Given the description of an element on the screen output the (x, y) to click on. 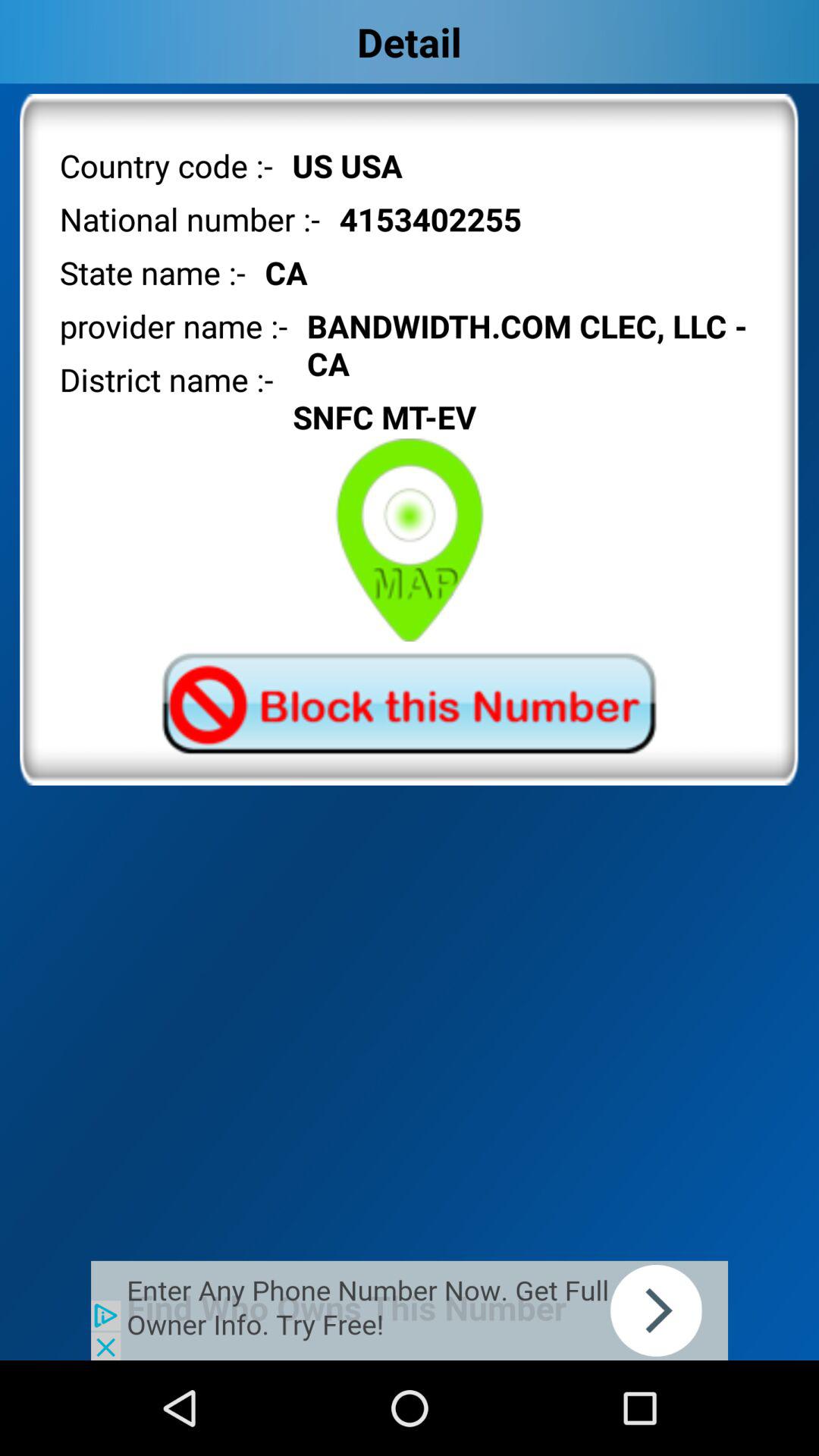
advertisement (409, 1310)
